Given the description of an element on the screen output the (x, y) to click on. 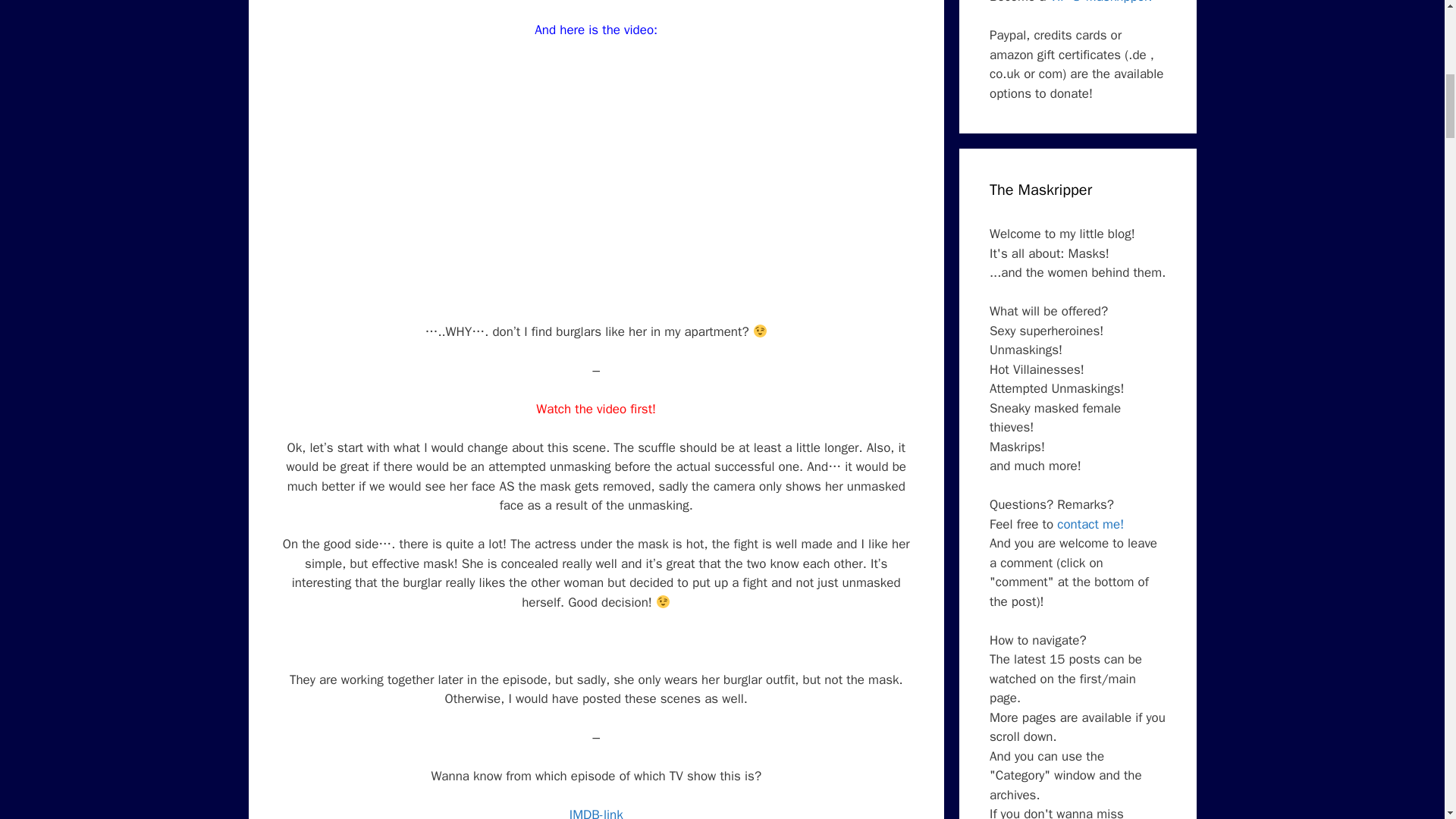
contact me! (1090, 524)
IMDB-link (596, 812)
Scroll back to top (1406, 720)
